Given the description of an element on the screen output the (x, y) to click on. 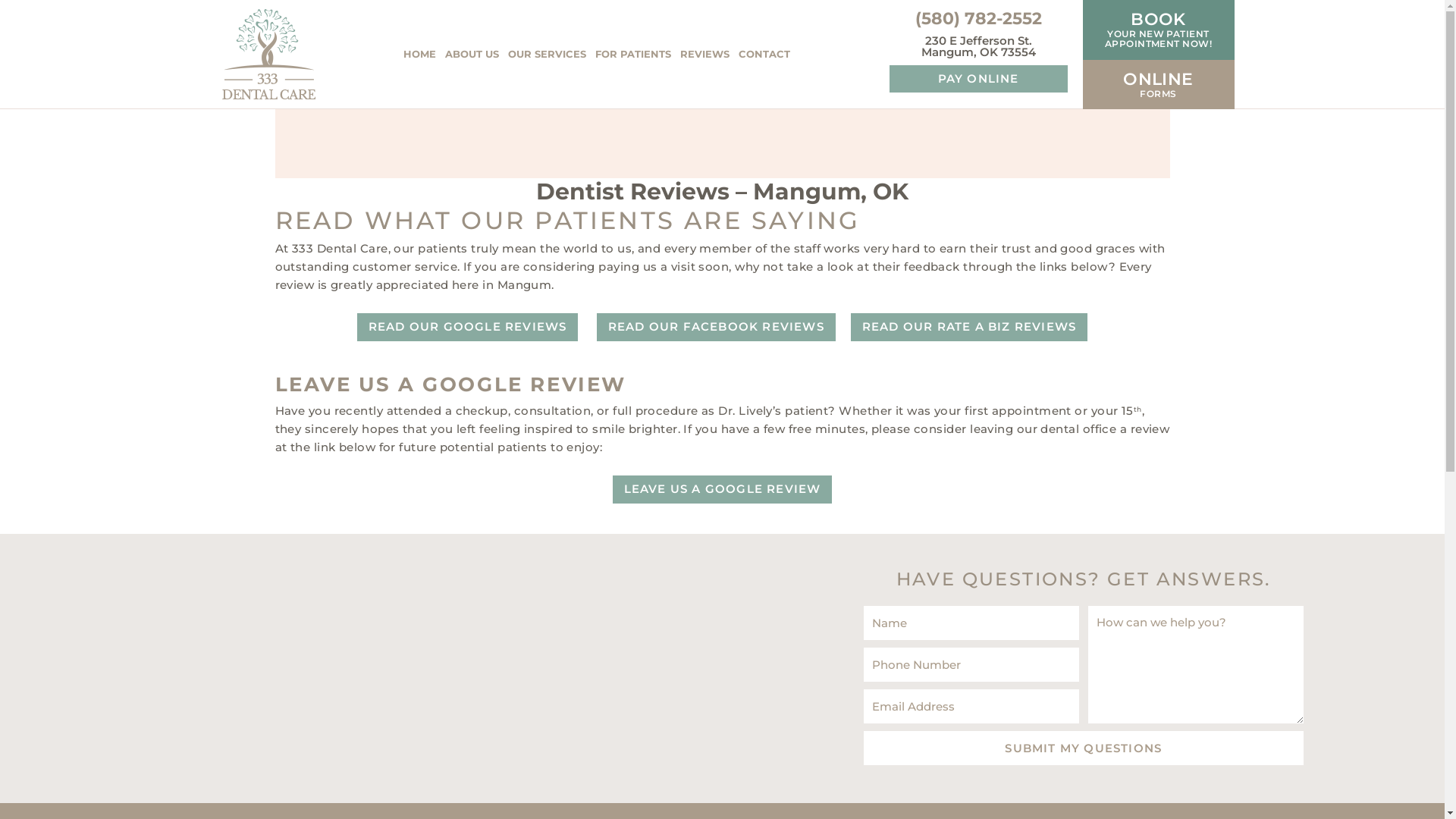
(580) 782-2552 Element type: text (977, 18)
READ OUR RATE A BIZ REVIEWS Element type: text (968, 327)
230 E Jefferson St.
Mangum, OK 73554 Element type: text (977, 45)
ABOUT US Element type: text (470, 54)
LEAVE US A GOOGLE REVIEW Element type: text (722, 489)
REVIEWS Element type: text (703, 54)
BOOK
YOUR NEW PATIENT APPOINTMENT NOW! Element type: text (1158, 29)
OUR SERVICES Element type: text (546, 54)
READ OUR GOOGLE REVIEWS Element type: text (467, 327)
CONTACT Element type: text (764, 54)
Submit My Questions Element type: text (1083, 748)
READ OUR FACEBOOK REVIEWS Element type: text (715, 327)
FOR PATIENTS Element type: text (631, 54)
ONLINE
FORMS Element type: text (1158, 84)
PAY ONLINE Element type: text (977, 79)
HOME Element type: text (419, 54)
